Given the description of an element on the screen output the (x, y) to click on. 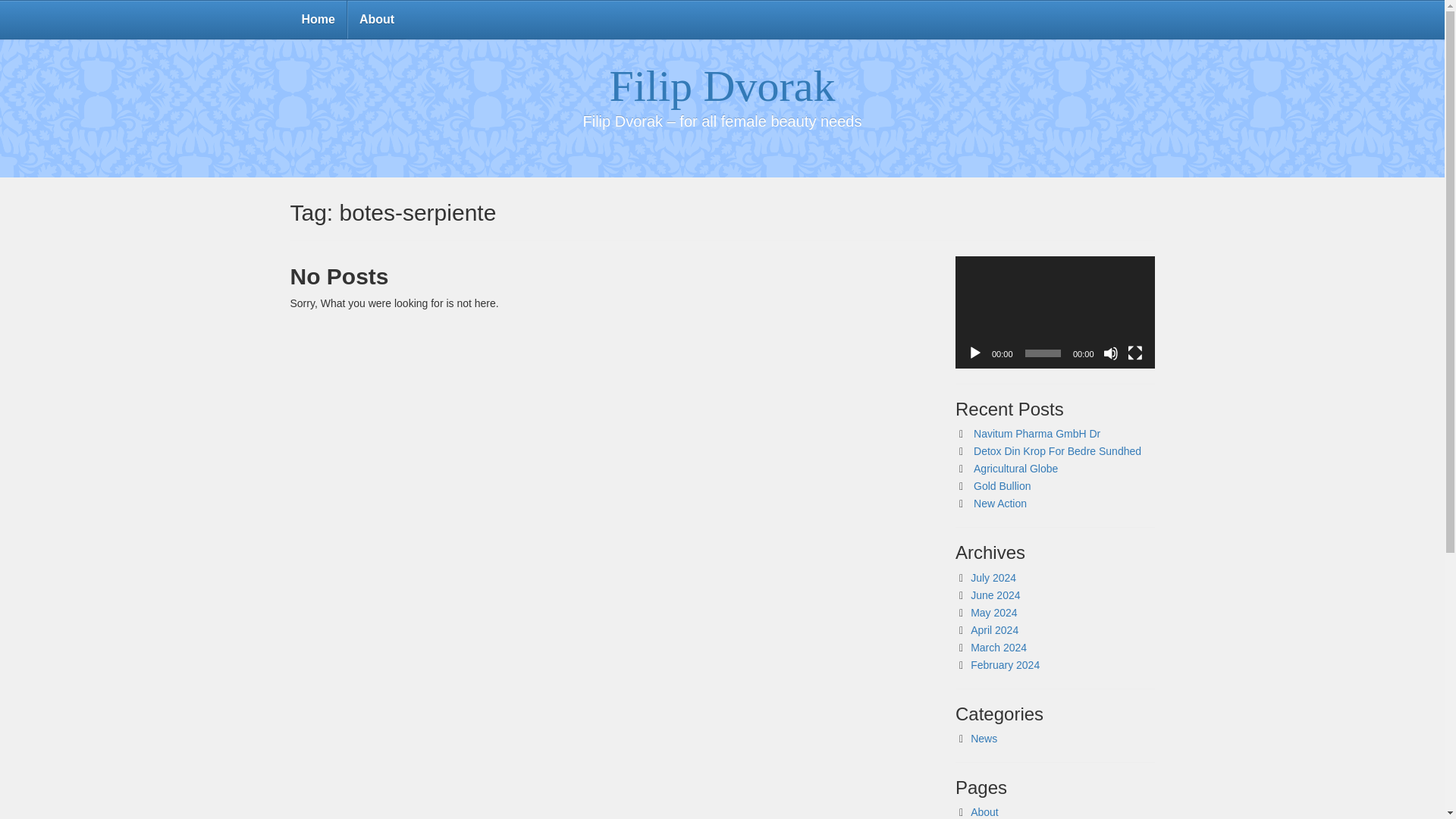
Play (975, 353)
February 2024 (1005, 664)
April 2024 (994, 630)
Navitum Pharma GmbH Dr (1037, 433)
About (984, 811)
Fullscreen (1133, 353)
Detox Din Krop For Bedre Sundhed (1057, 451)
June 2024 (995, 594)
New Action (1000, 503)
Agricultural Globe (1016, 468)
March 2024 (998, 647)
Gold Bullion (1002, 485)
May 2024 (993, 612)
Filip Dvorak (721, 85)
About (376, 19)
